Given the description of an element on the screen output the (x, y) to click on. 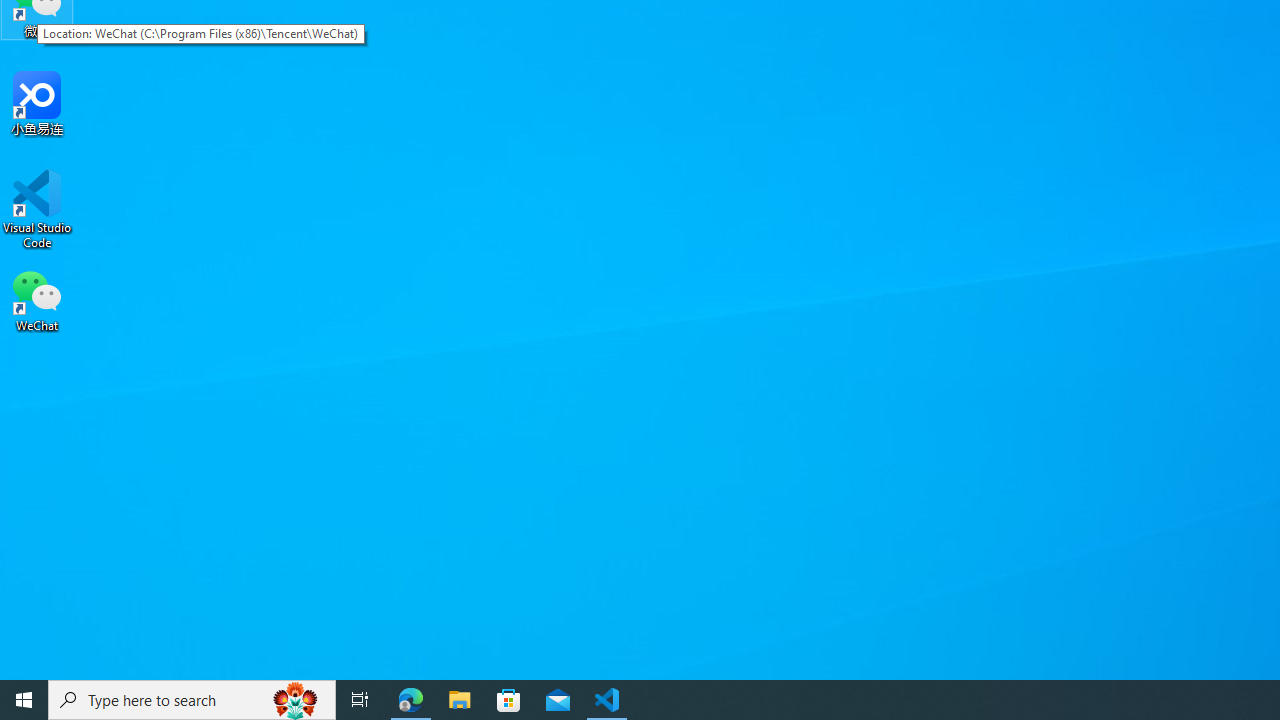
Microsoft Store (509, 699)
Search highlights icon opens search home window (295, 699)
Microsoft Edge - 1 running window (411, 699)
Visual Studio Code - 1 running window (607, 699)
WeChat (37, 299)
Start (24, 699)
File Explorer (460, 699)
Type here to search (191, 699)
Task View (359, 699)
Visual Studio Code (37, 209)
